Given the description of an element on the screen output the (x, y) to click on. 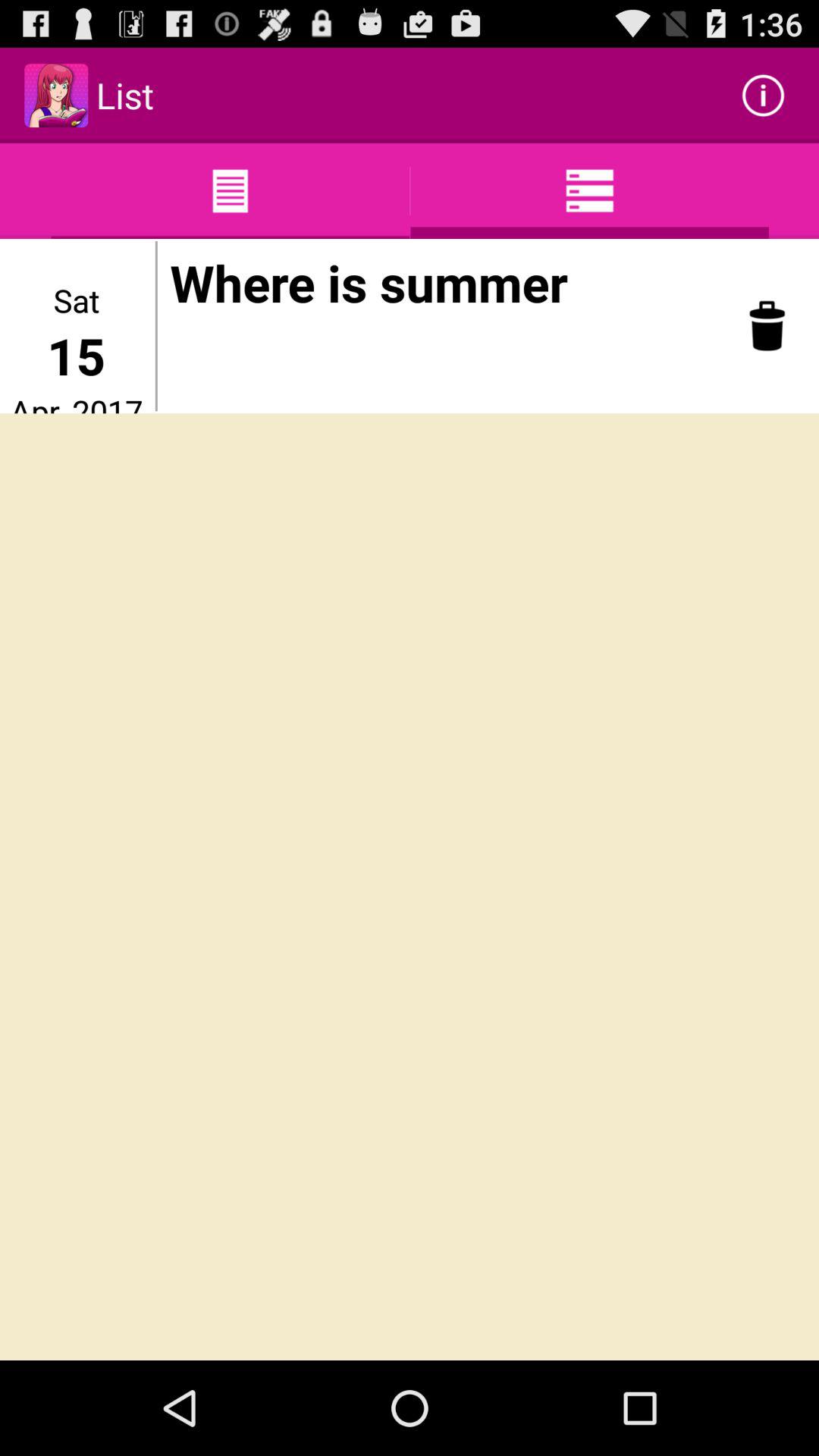
launch icon to the left of the where is summer app (156, 326)
